Given the description of an element on the screen output the (x, y) to click on. 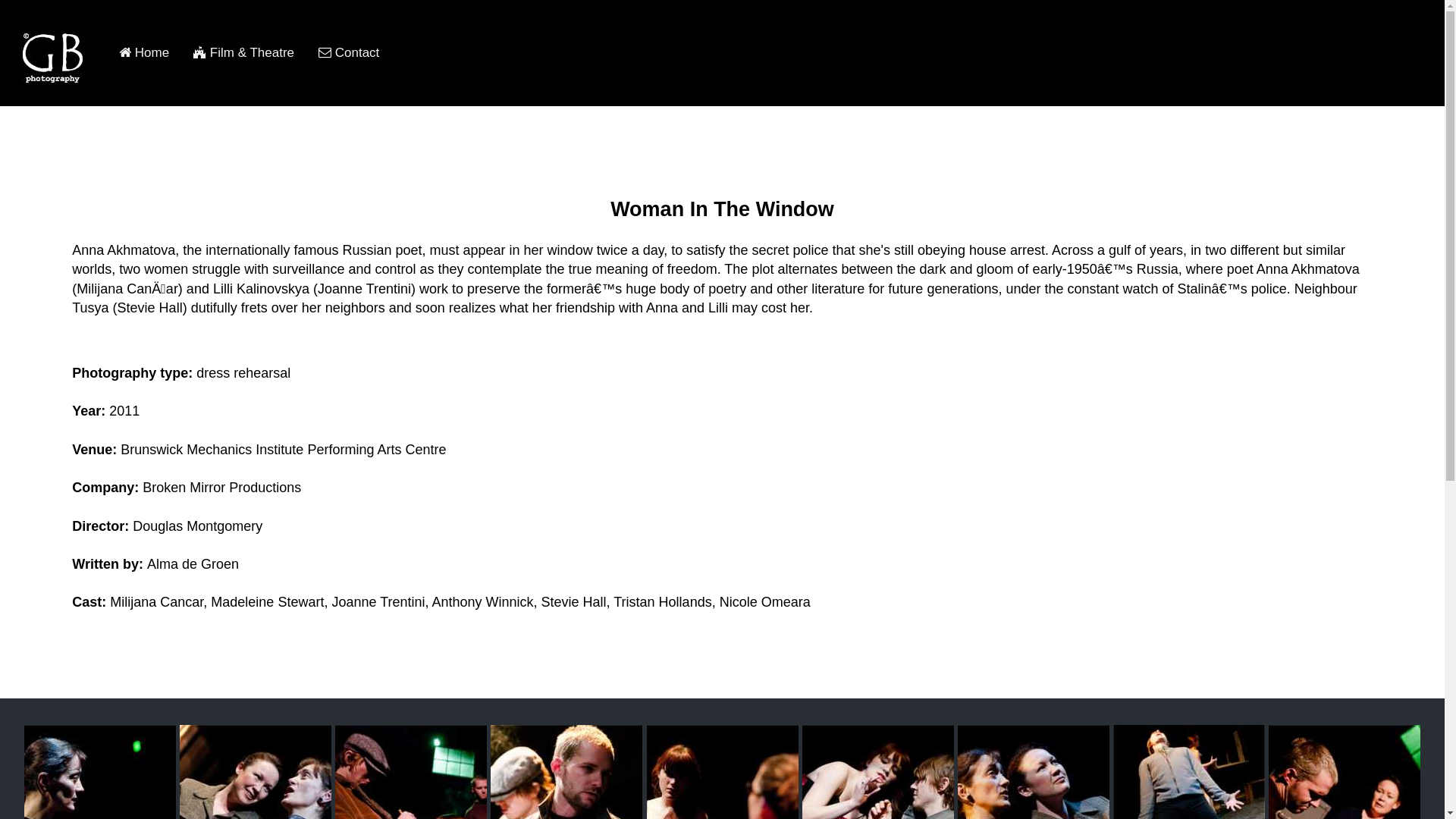
Contact Element type: text (348, 52)
Film & Theatre Element type: text (243, 52)
Home Element type: text (143, 52)
